Given the description of an element on the screen output the (x, y) to click on. 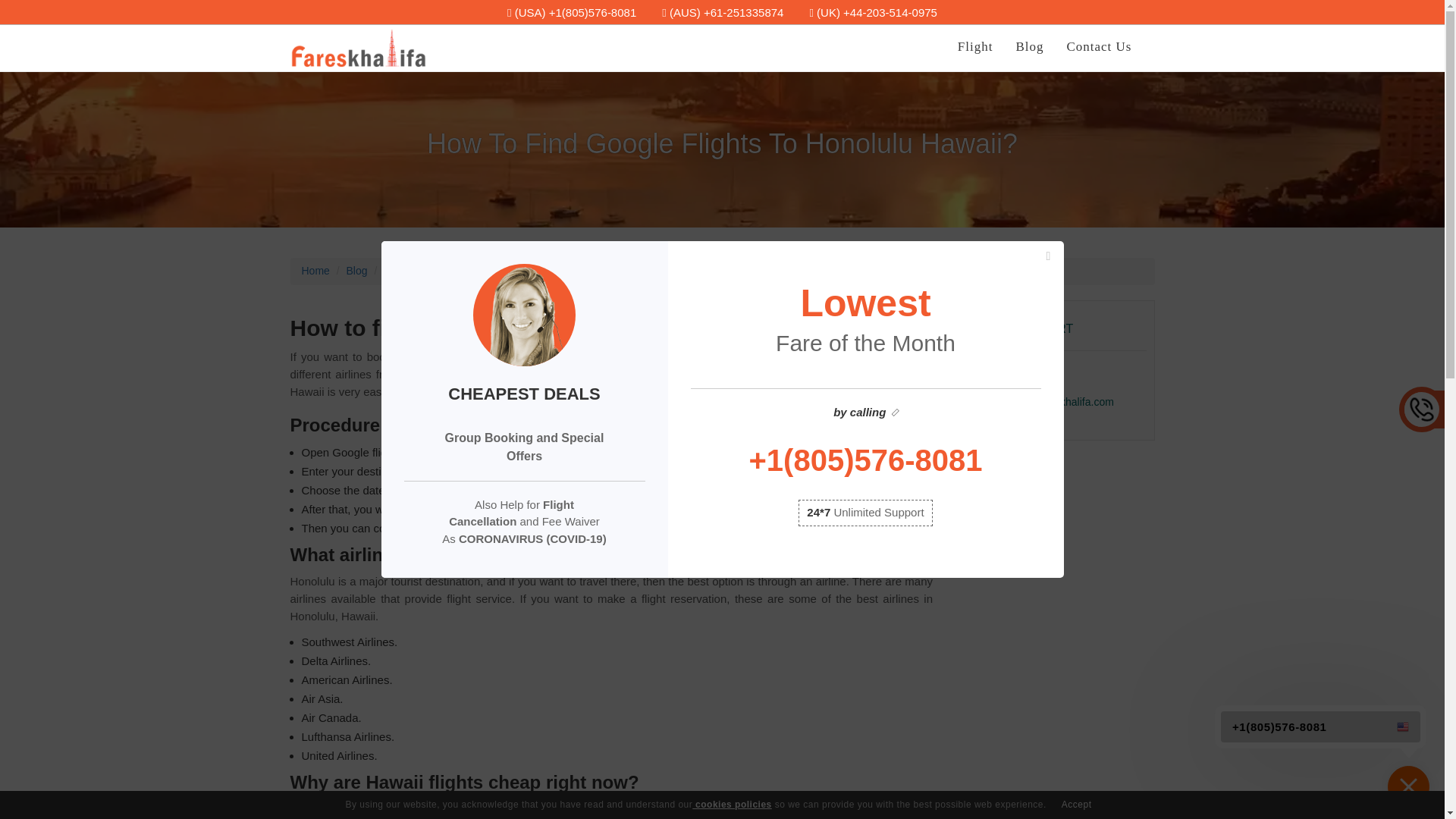
Blog (1028, 46)
Blog (357, 270)
Contact Us (1098, 46)
Flight (975, 46)
Home (315, 270)
